Given the description of an element on the screen output the (x, y) to click on. 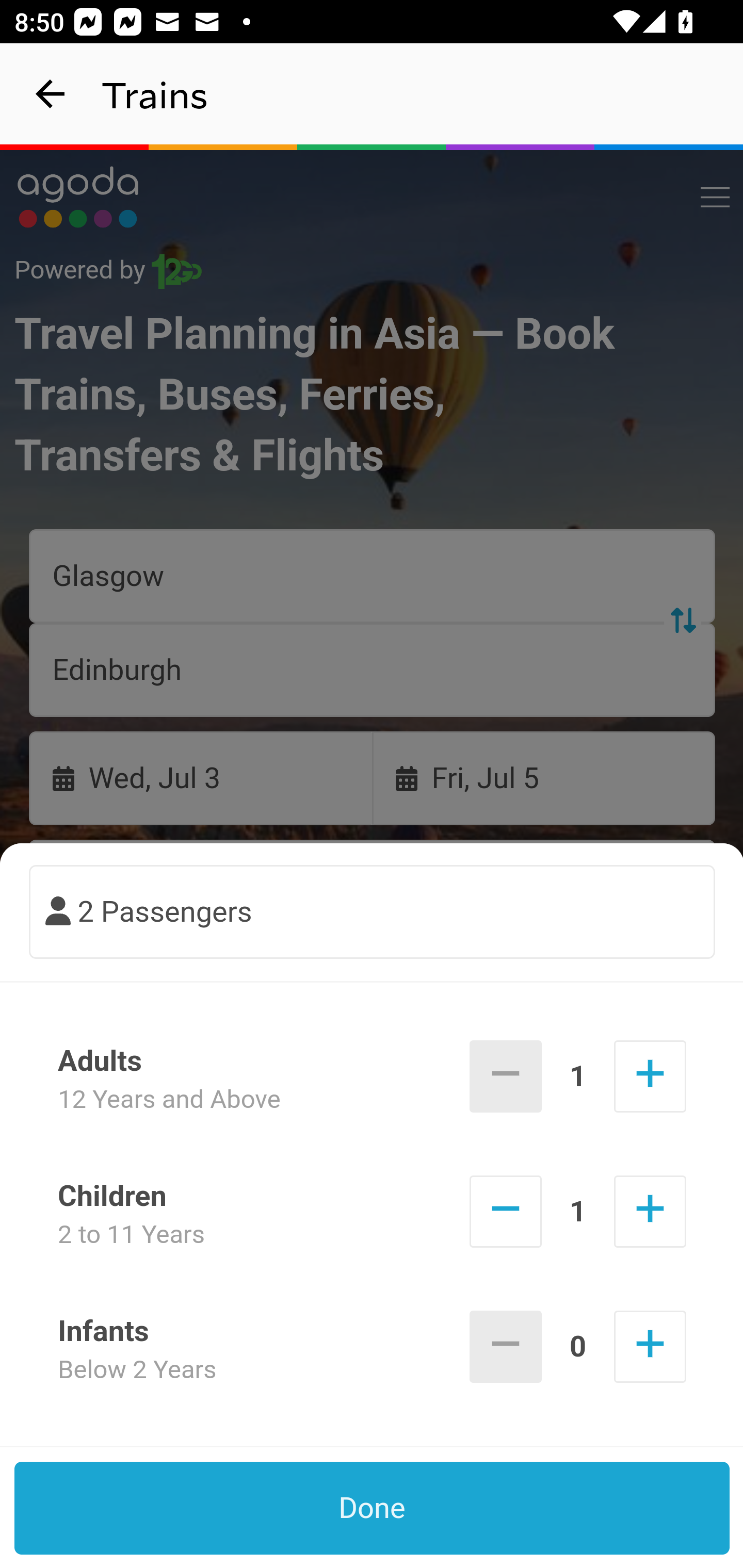
Find Tickets (372, 992)
Done (372, 1508)
